Given the description of an element on the screen output the (x, y) to click on. 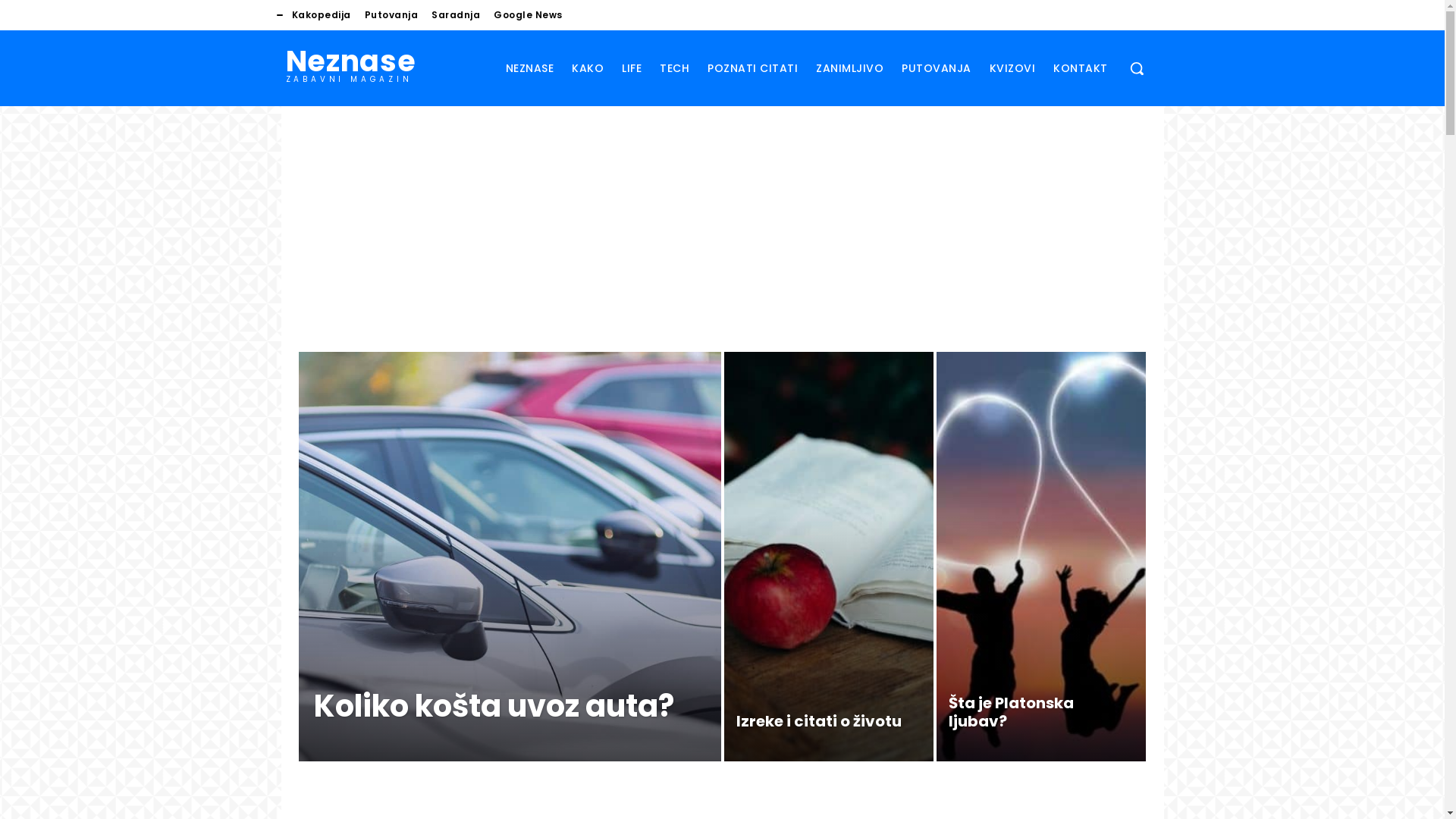
Advertisement Element type: hover (721, 230)
ZANIMLJIVO Element type: text (849, 68)
PUTOVANJA Element type: text (936, 68)
KONTAKT Element type: text (1080, 68)
Google News Element type: text (527, 15)
LIFE Element type: text (631, 68)
TECH Element type: text (674, 68)
KAKO Element type: text (587, 68)
Neznase
ZABAVNI MAGAZIN Element type: text (350, 63)
NEZNASE Element type: text (528, 68)
Saradnja Element type: text (455, 15)
Putovanja Element type: text (391, 15)
KVIZOVI Element type: text (1011, 68)
Kakopedija Element type: text (321, 15)
POZNATI CITATI Element type: text (752, 68)
